Given the description of an element on the screen output the (x, y) to click on. 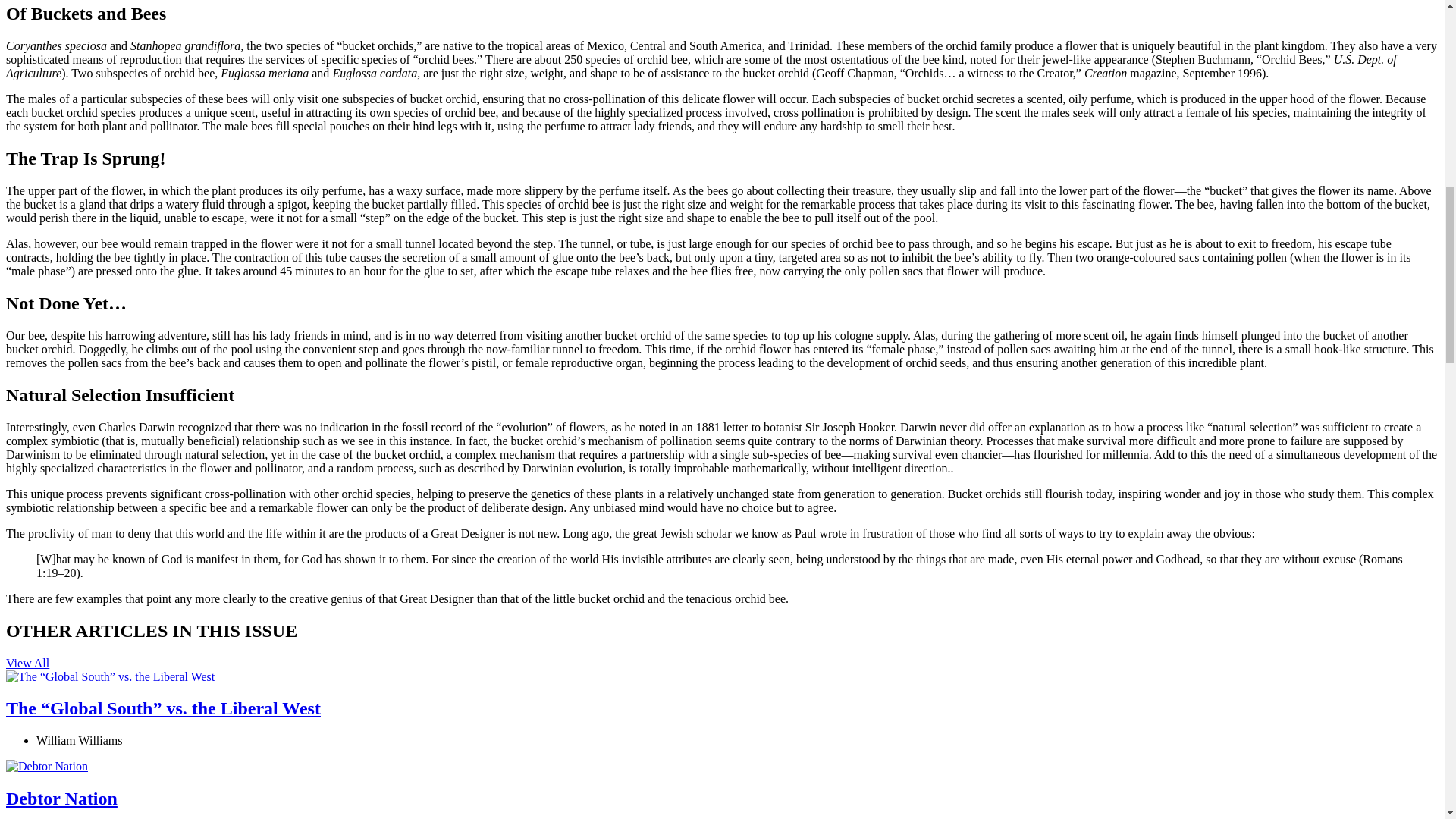
Debtor Nation (61, 798)
View All (27, 662)
